Given the description of an element on the screen output the (x, y) to click on. 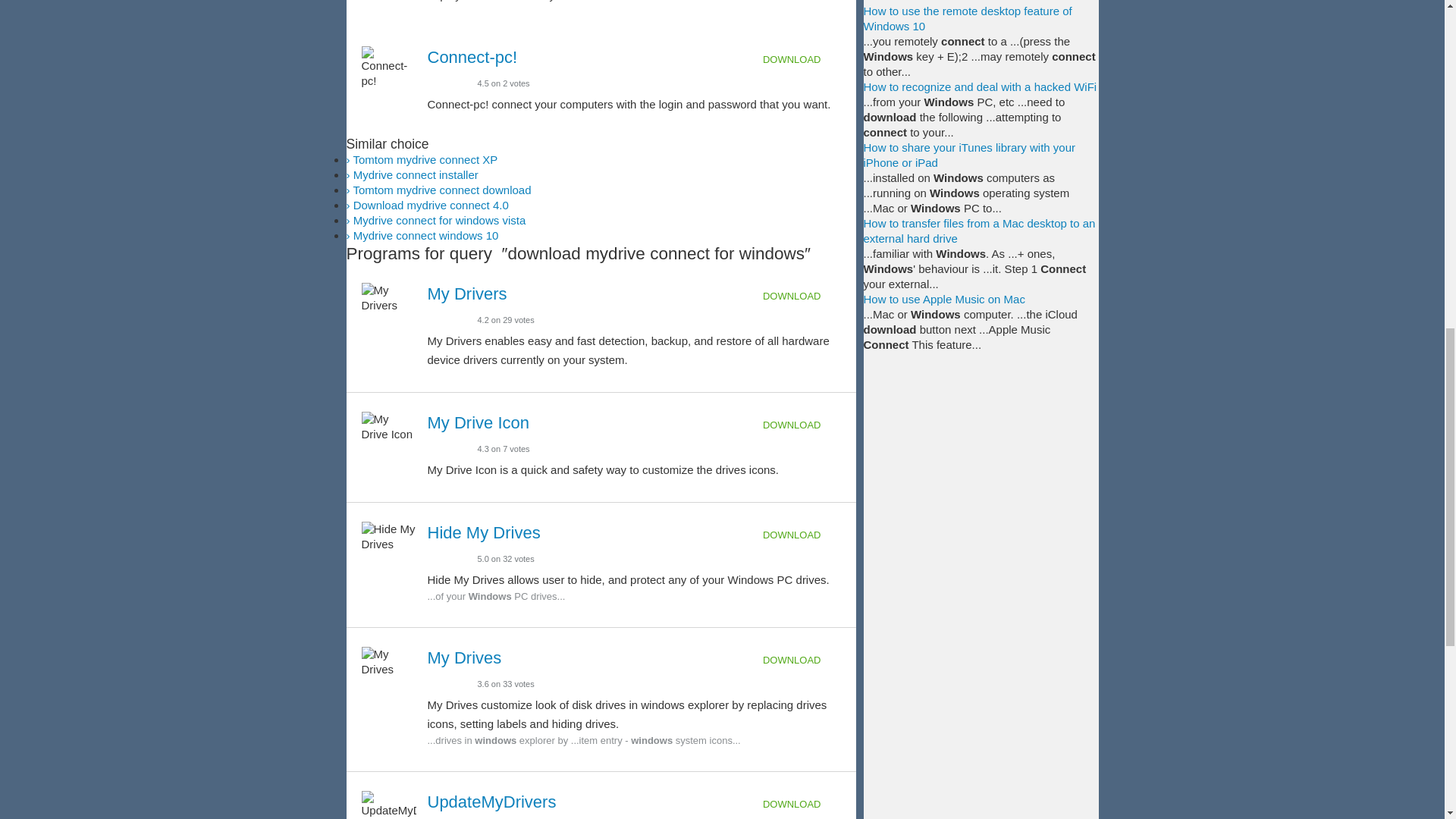
My Drive Icon (478, 422)
Connect-pc! (473, 56)
Hide My Drives (484, 532)
Connect-pc! (473, 56)
My Drives (465, 657)
UpdateMyDrivers (492, 801)
My Drivers (467, 293)
DOWNLOAD (801, 296)
DOWNLOAD (801, 59)
My Drivers (467, 293)
